Given the description of an element on the screen output the (x, y) to click on. 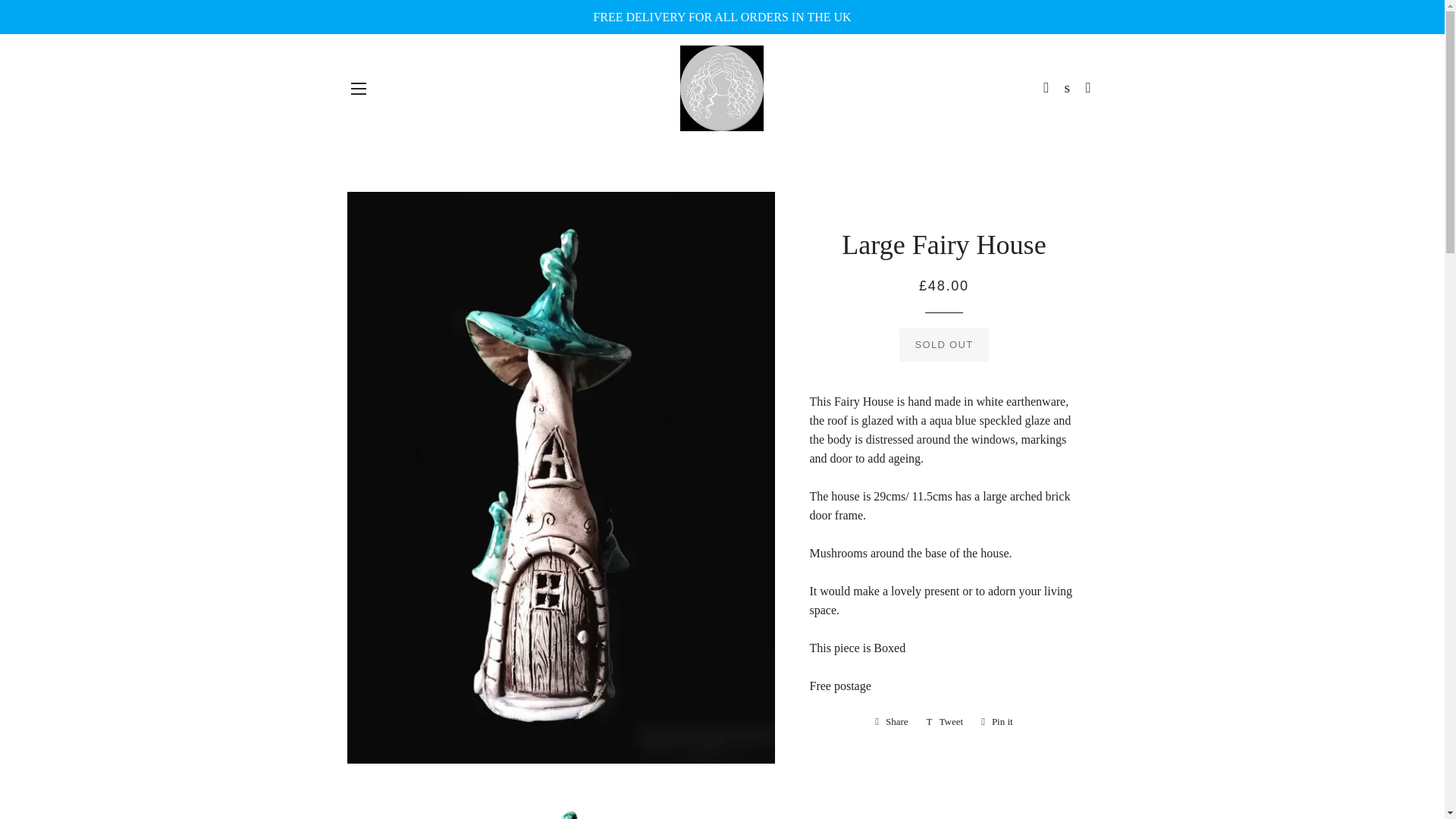
Pin on Pinterest (997, 721)
SITE NAVIGATION (944, 721)
Tweet on Twitter (358, 88)
SOLD OUT (944, 721)
Share on Facebook (891, 721)
